Given the description of an element on the screen output the (x, y) to click on. 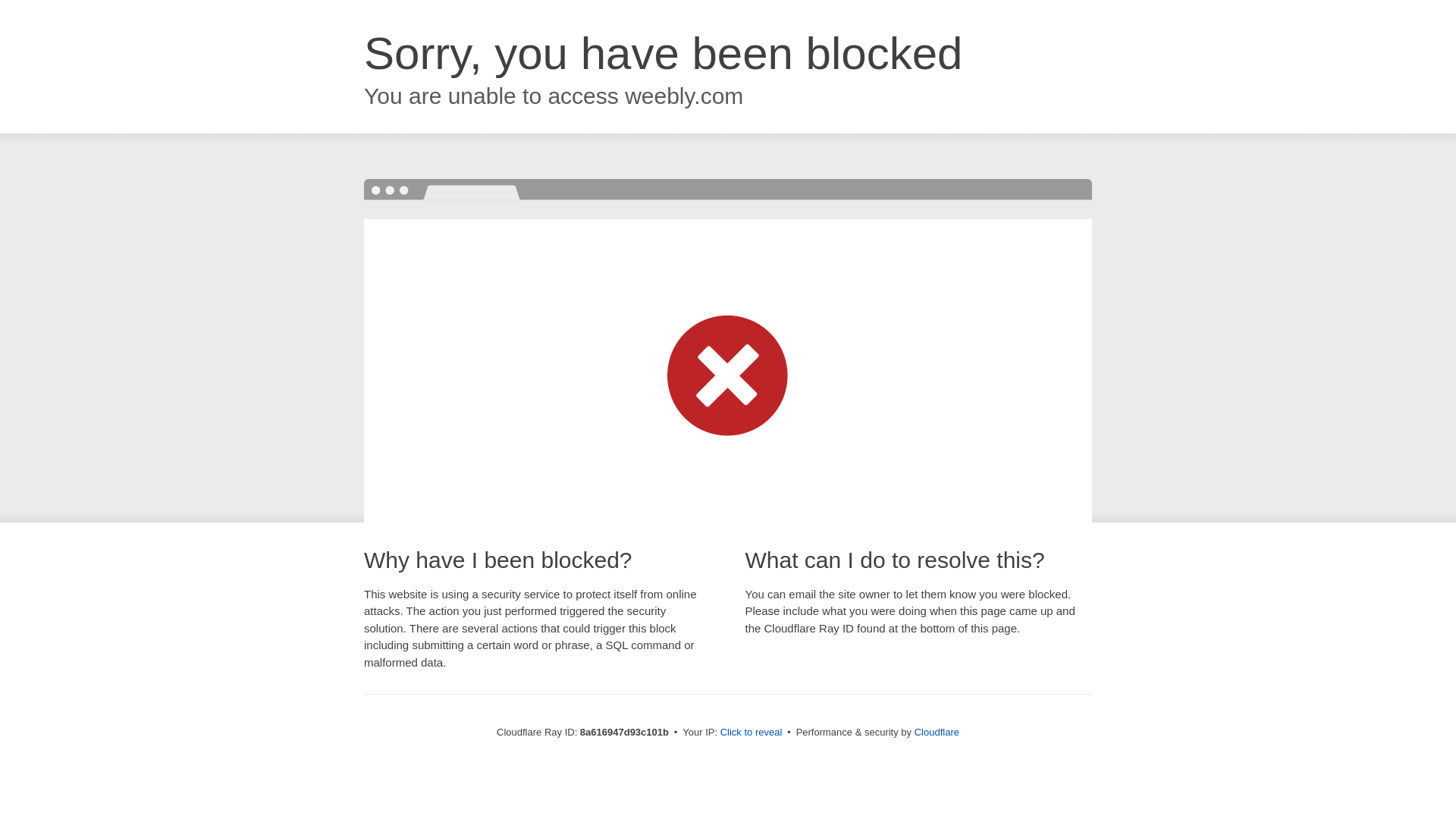
Click to reveal (751, 732)
Cloudflare (936, 731)
